Given the description of an element on the screen output the (x, y) to click on. 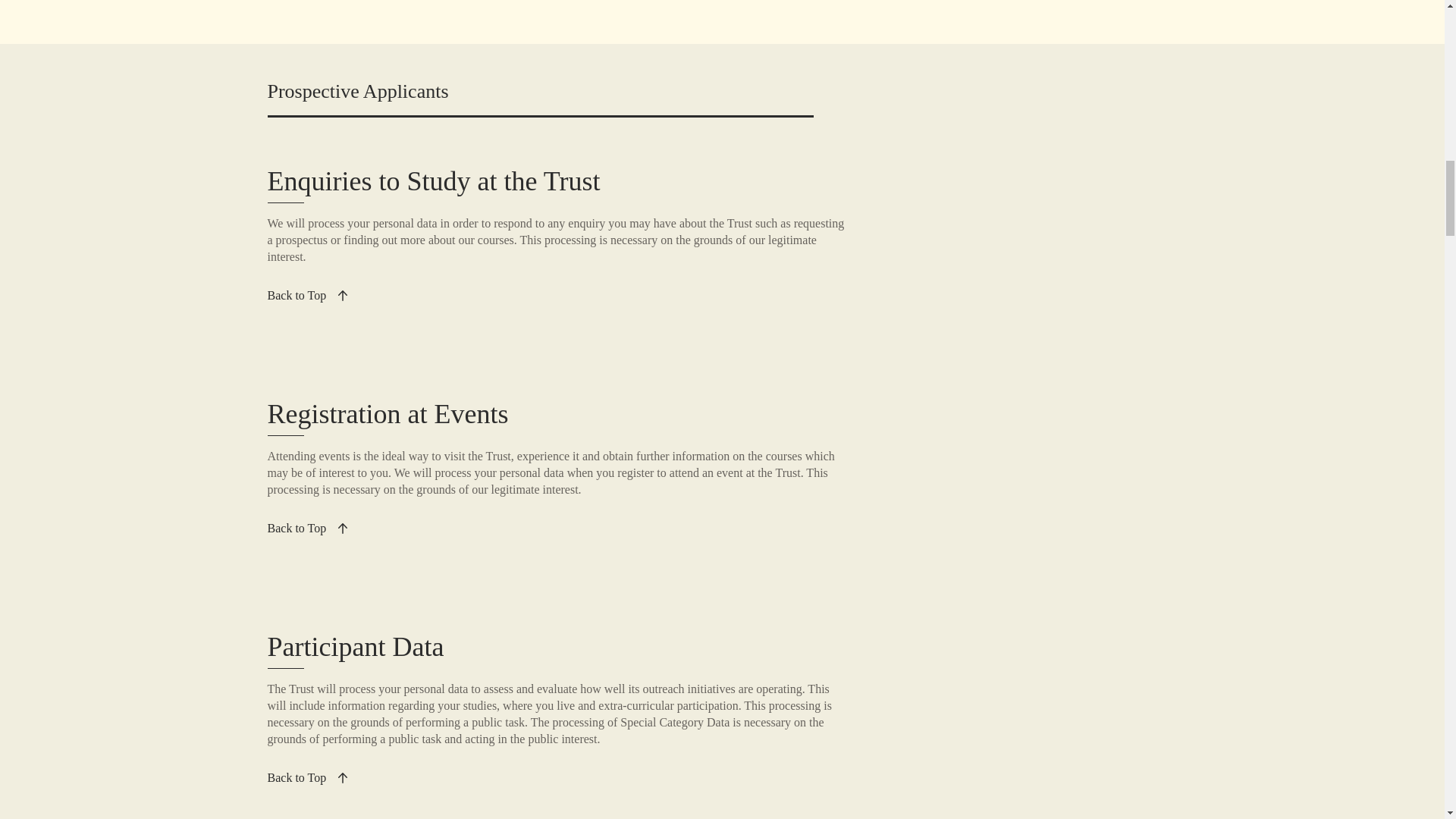
Back to Top (306, 295)
Back to Top (306, 528)
Back to Top (306, 777)
